Given the description of an element on the screen output the (x, y) to click on. 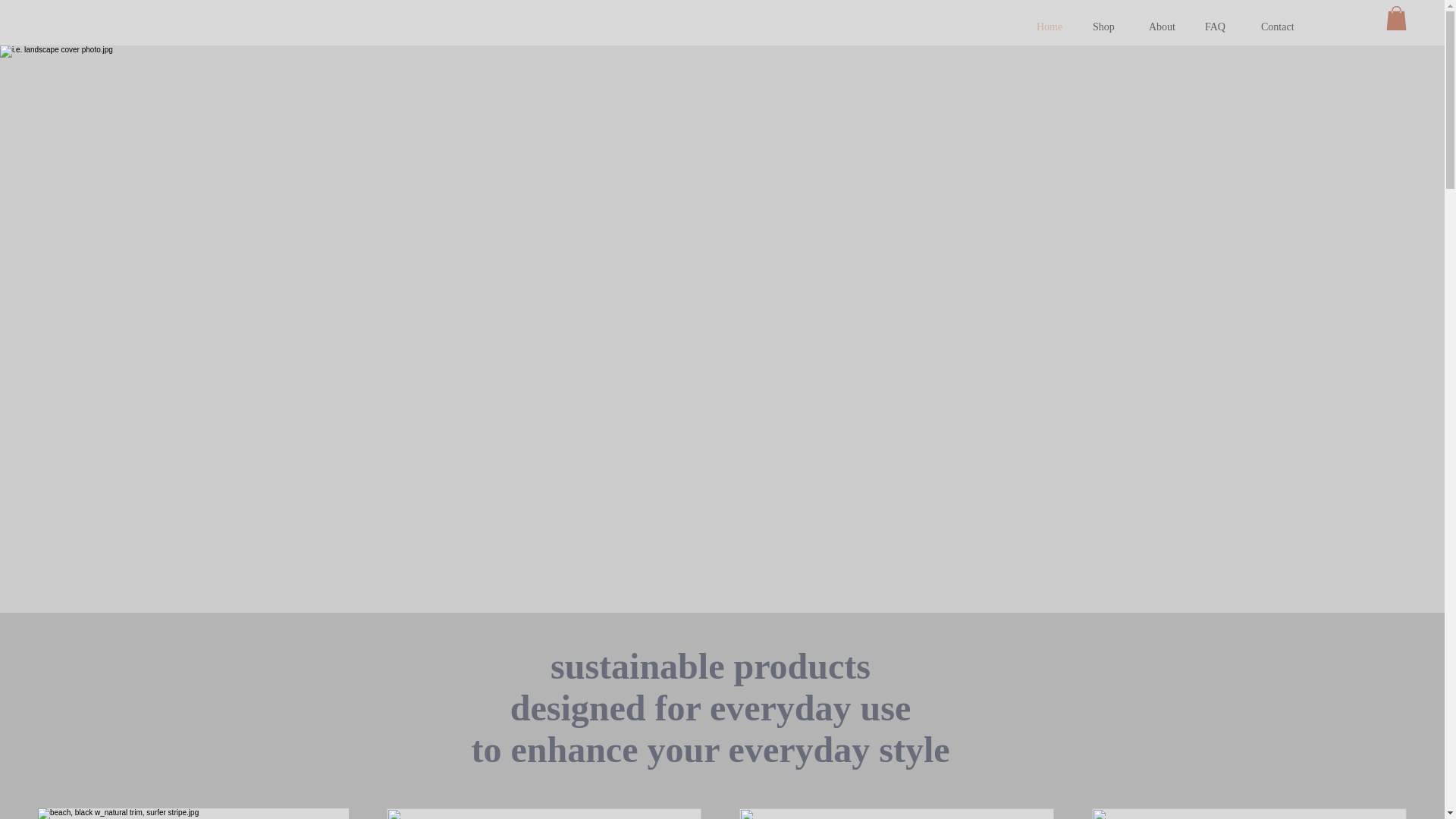
i.e., lunch (1249, 816)
Shop (1109, 27)
Contact (1277, 27)
About (1165, 27)
FAQ (1221, 27)
Home (1053, 27)
i.e., market (897, 813)
